Given the description of an element on the screen output the (x, y) to click on. 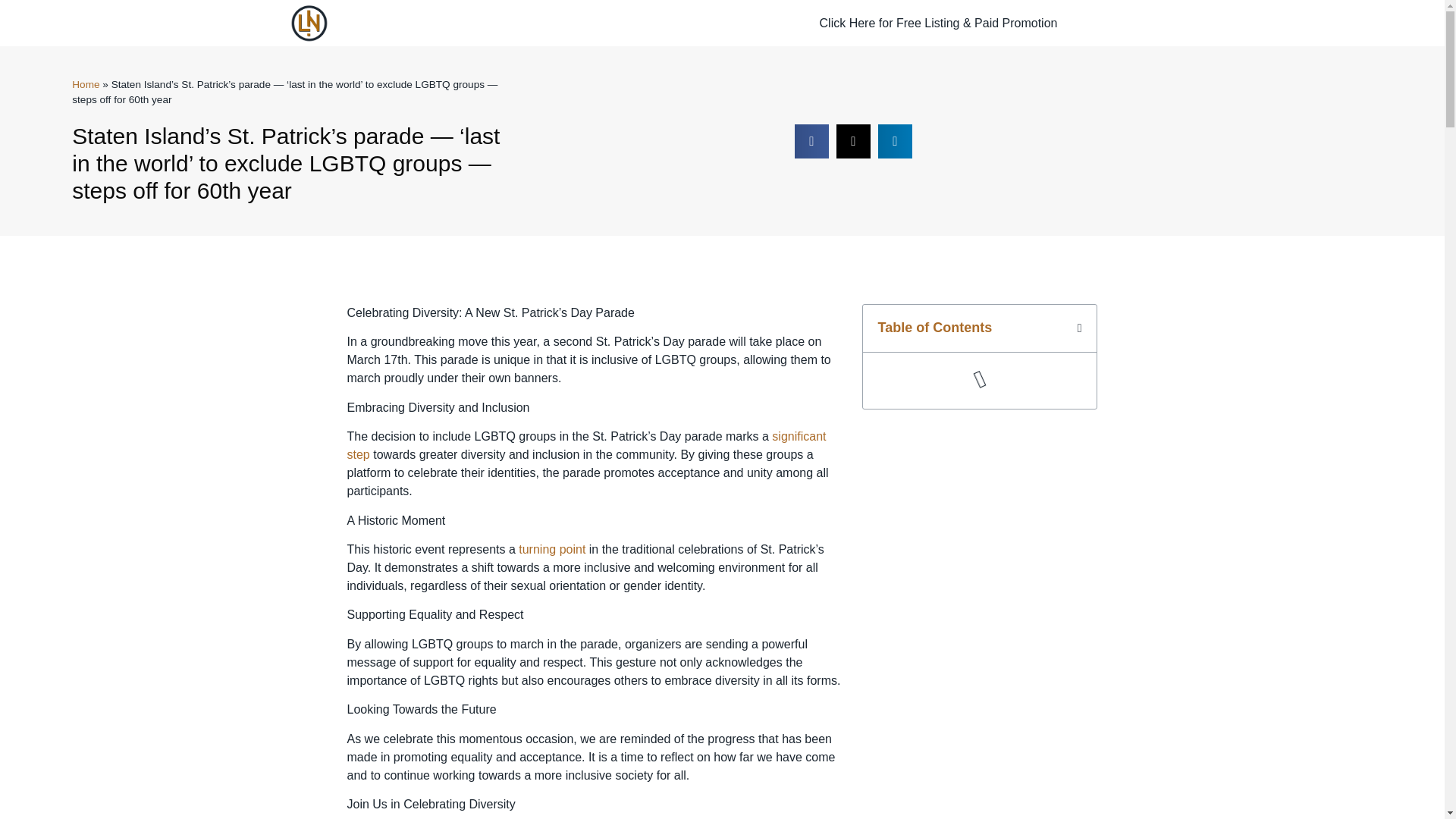
turning point (551, 549)
significant step (587, 445)
Upstate NY diocese announces 0M sex abuse settlement (587, 445)
Home (85, 84)
